Given the description of an element on the screen output the (x, y) to click on. 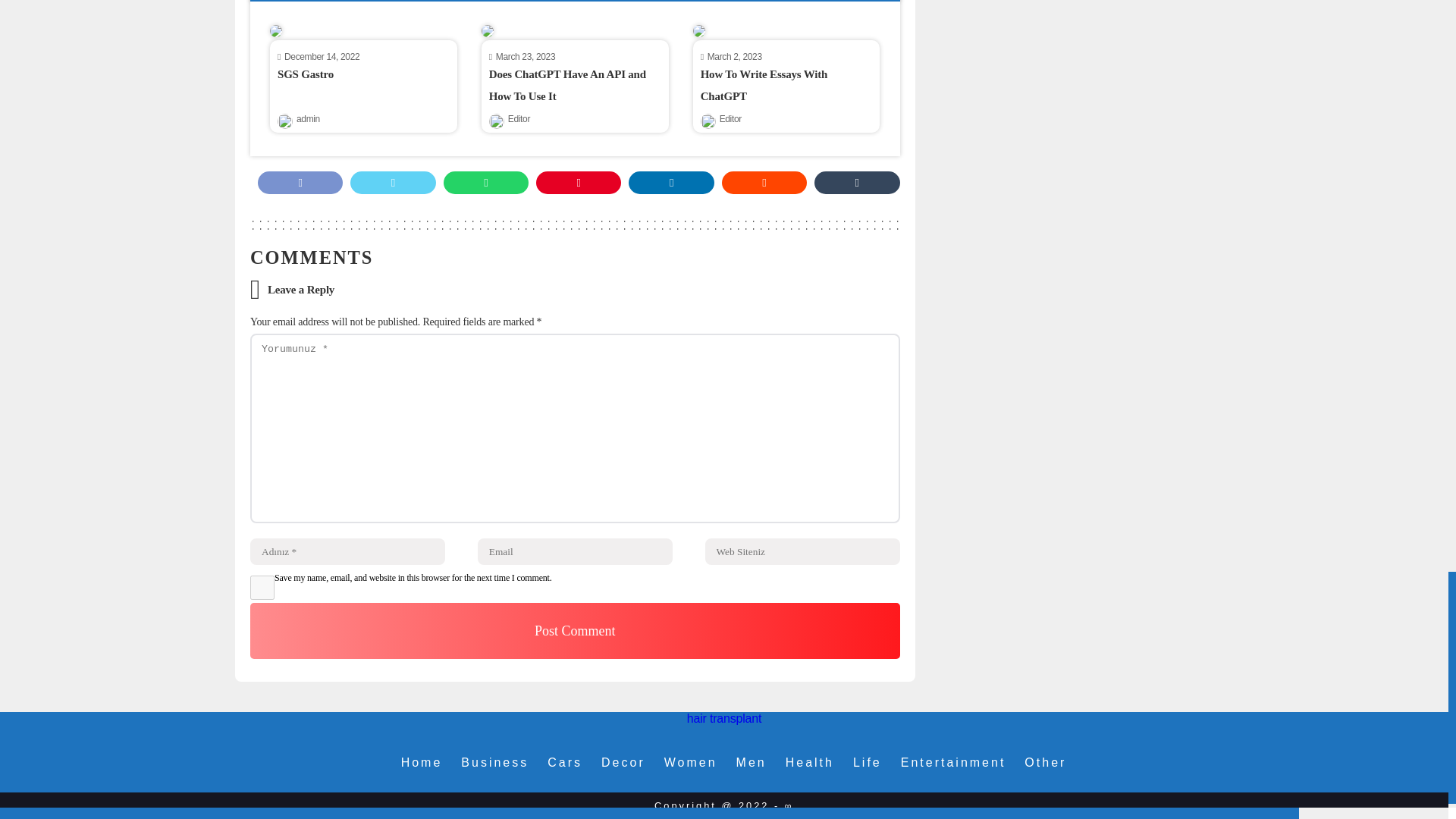
yes (262, 587)
Post Comment (574, 630)
